Given the description of an element on the screen output the (x, y) to click on. 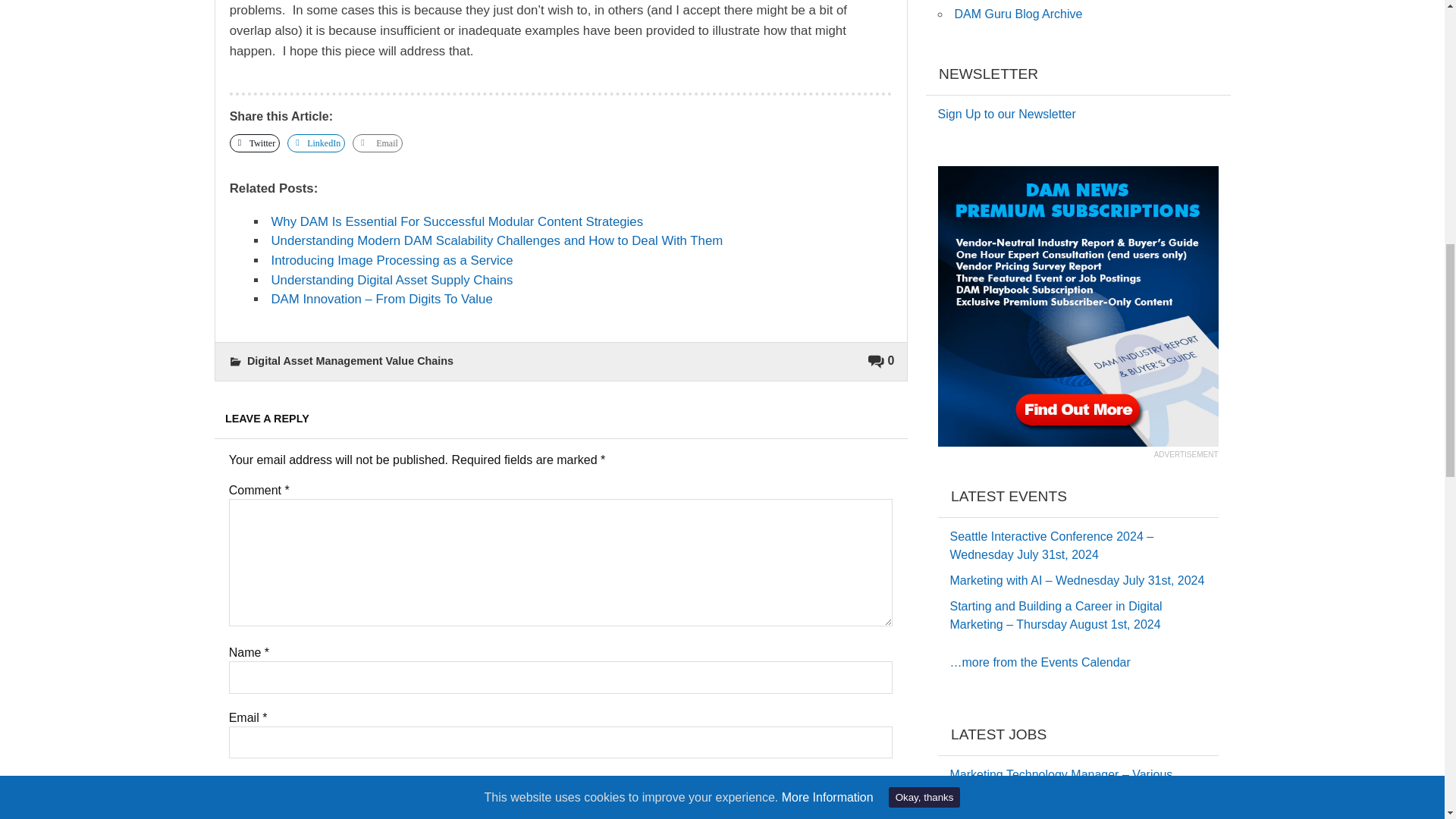
Understanding Digital Asset Supply Chains (391, 279)
DAM Guru Blog Archive (1017, 13)
Introducing Image Processing as a Service (391, 260)
Email (377, 143)
Twitter (254, 143)
LinkedIn (315, 143)
